Given the description of an element on the screen output the (x, y) to click on. 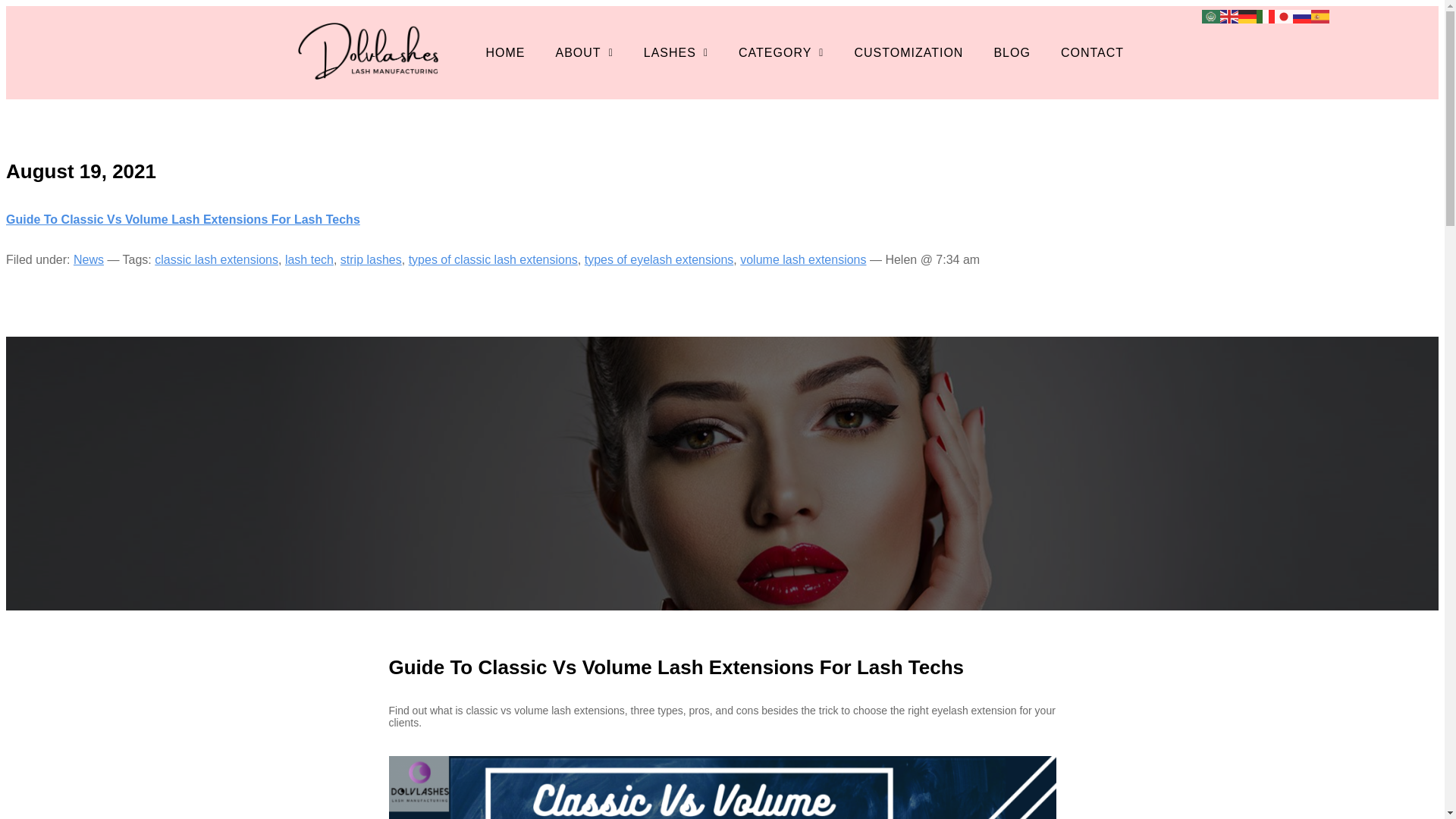
lash tech (309, 259)
Arabic (1211, 15)
CONTACT (1091, 52)
Russian (1301, 15)
LASHES (675, 52)
CATEGORY (780, 52)
Spanish (1320, 15)
News (88, 259)
types of eyelash extensions (659, 259)
CUSTOMIZATION (908, 52)
German (1247, 15)
BLOG (1011, 52)
strip lashes (370, 259)
volume lash extensions (802, 259)
Japanese (1283, 15)
